Given the description of an element on the screen output the (x, y) to click on. 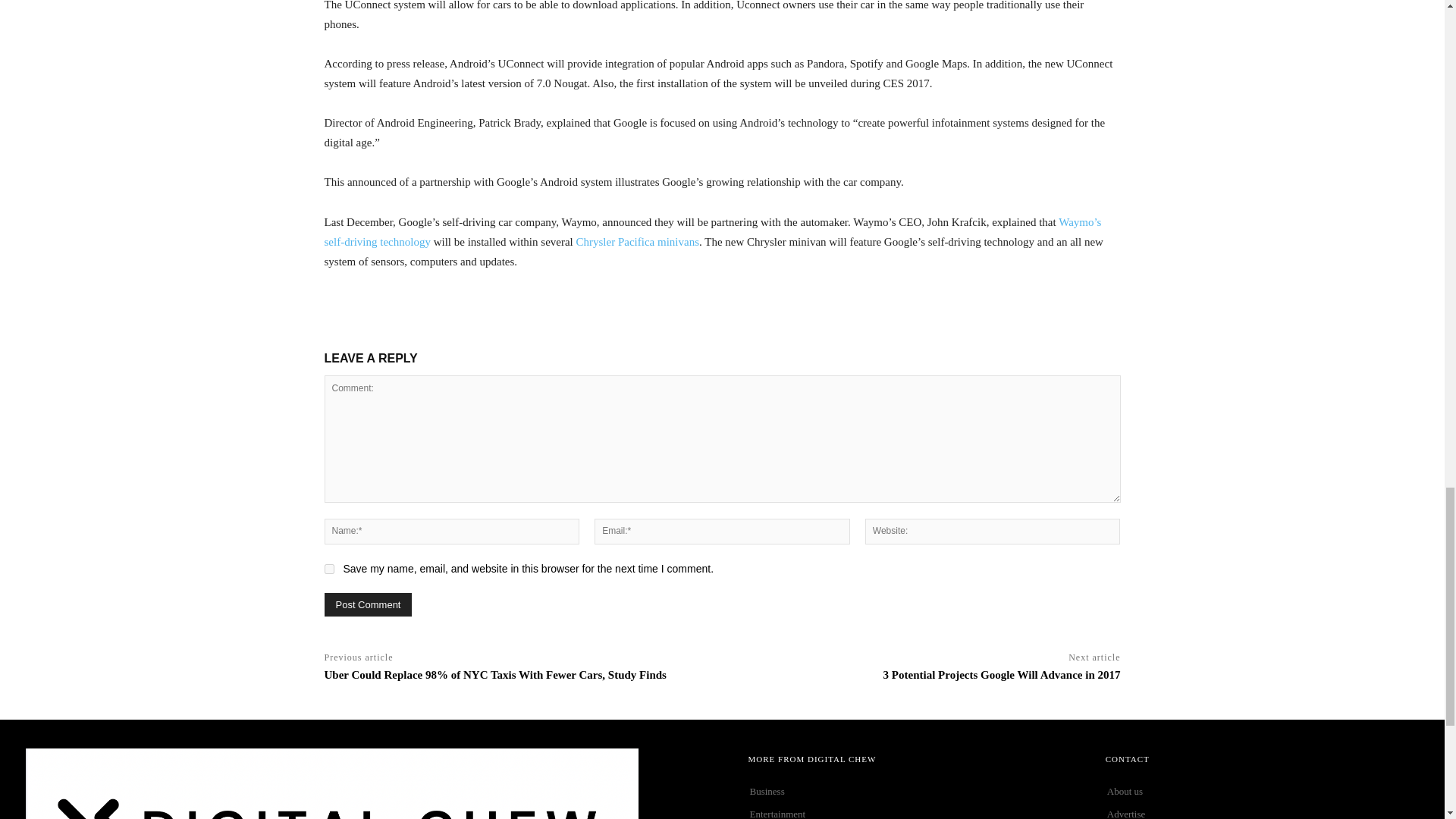
Business (905, 791)
About us (1262, 791)
3 Potential Projects Google Will Advance in 2017 (1002, 674)
Post Comment (368, 604)
Post Comment (368, 604)
yes (329, 569)
Chrysler Pacifica minivans (637, 241)
Entertainment (905, 811)
Advertise (1262, 811)
